Given the description of an element on the screen output the (x, y) to click on. 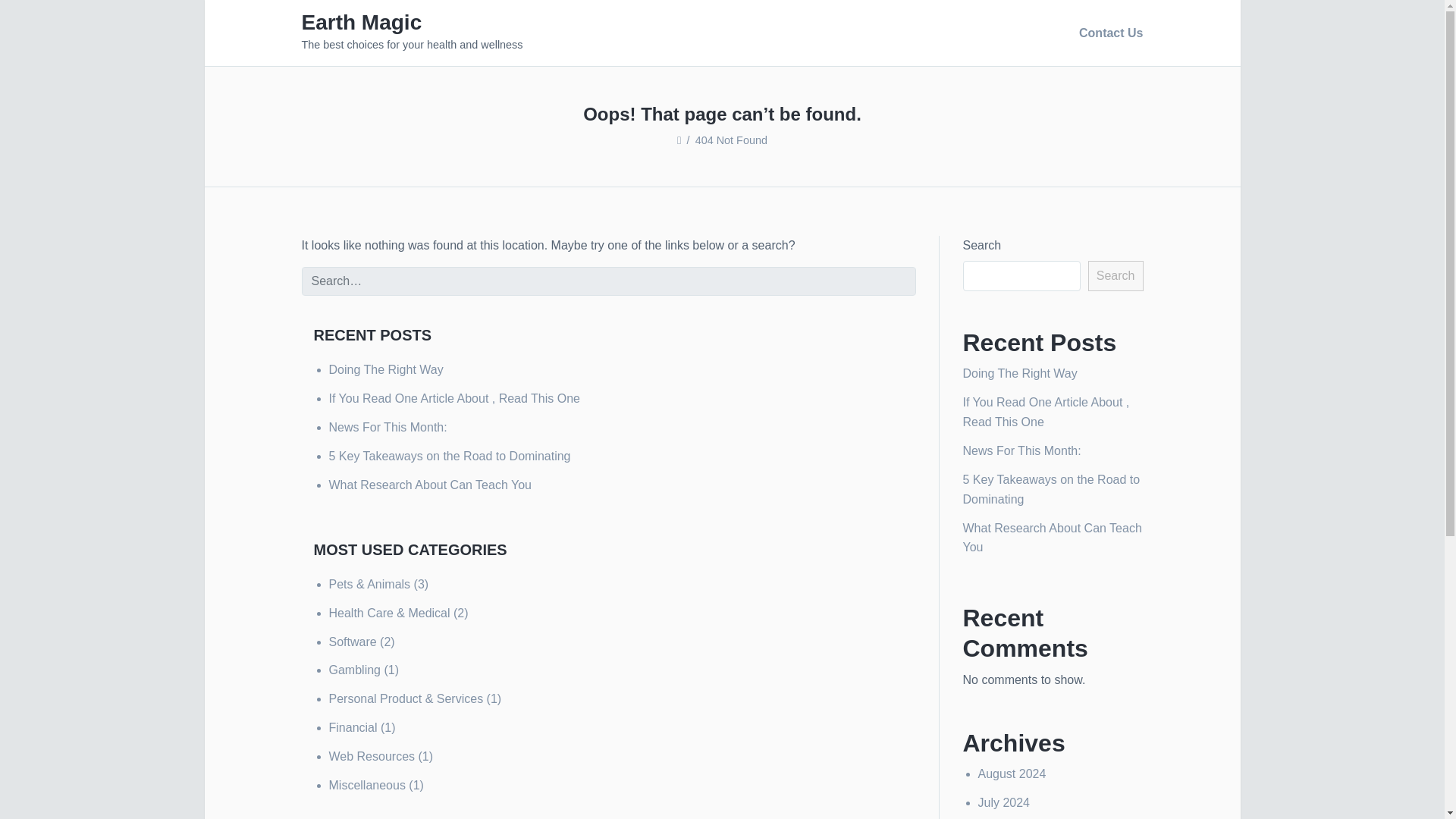
If You Read One Article About , Read This One (454, 398)
What Research About Can Teach You (1051, 537)
News For This Month: (387, 427)
Software (353, 641)
Doing The Right Way (386, 369)
What Research About Can Teach You (430, 484)
Doing The Right Way (1019, 373)
Contact Us (1106, 32)
5 Key Takeaways on the Road to Dominating (1051, 489)
News For This Month: (1021, 450)
